Given the description of an element on the screen output the (x, y) to click on. 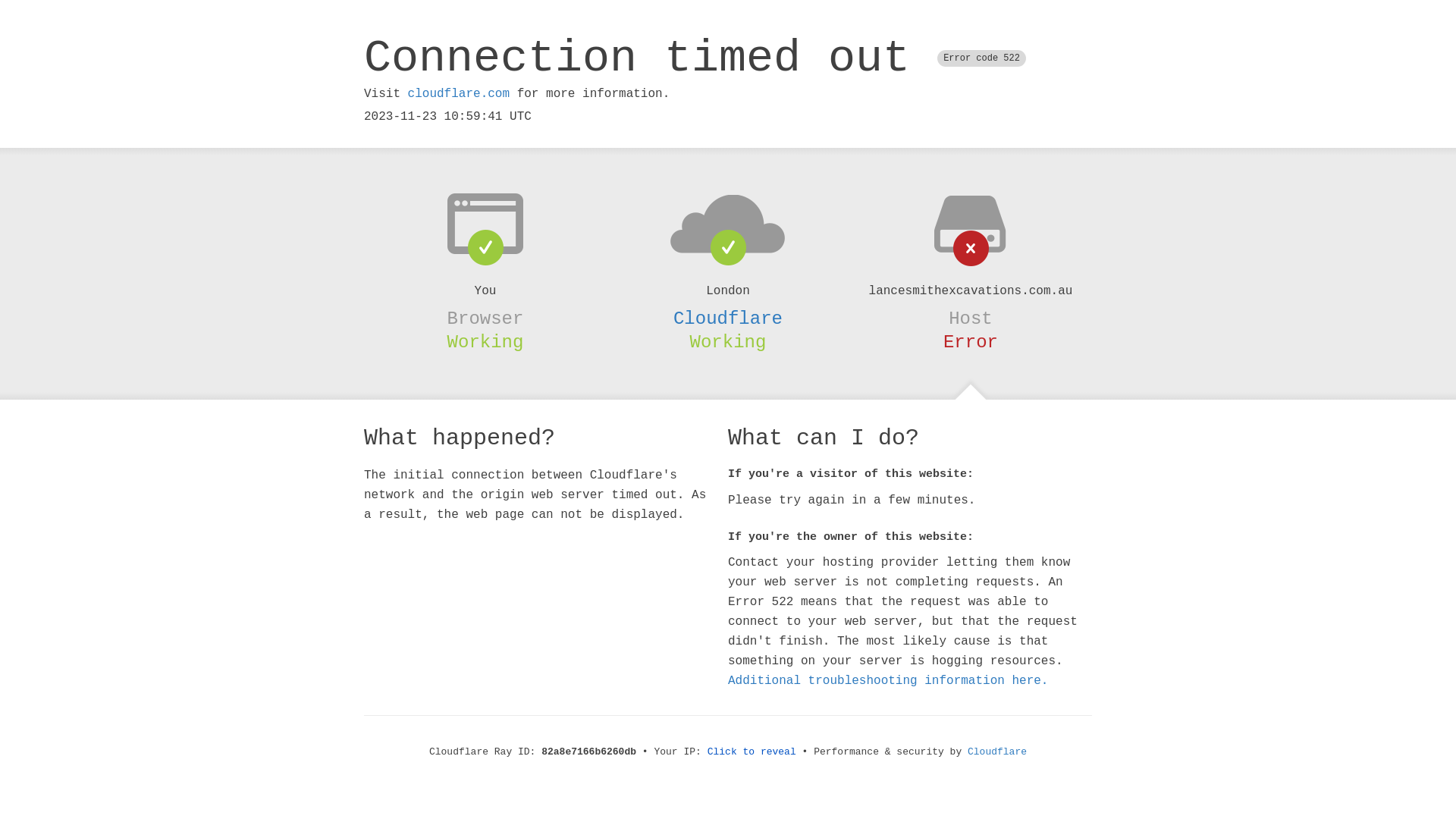
cloudflare.com Element type: text (458, 93)
Additional troubleshooting information here. Element type: text (888, 680)
Cloudflare Element type: text (996, 751)
Click to reveal Element type: text (751, 751)
Cloudflare Element type: text (727, 318)
